Given the description of an element on the screen output the (x, y) to click on. 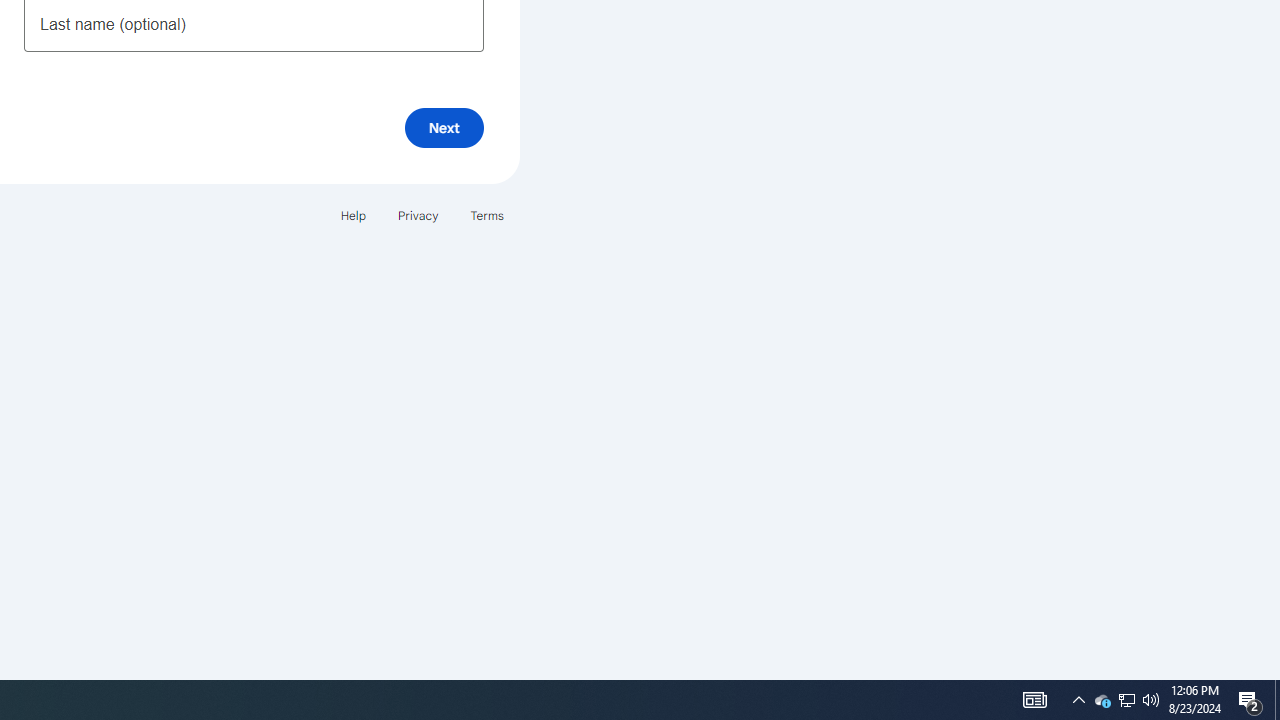
Next (443, 127)
Terms (486, 214)
Help (352, 214)
Privacy (417, 214)
